Given the description of an element on the screen output the (x, y) to click on. 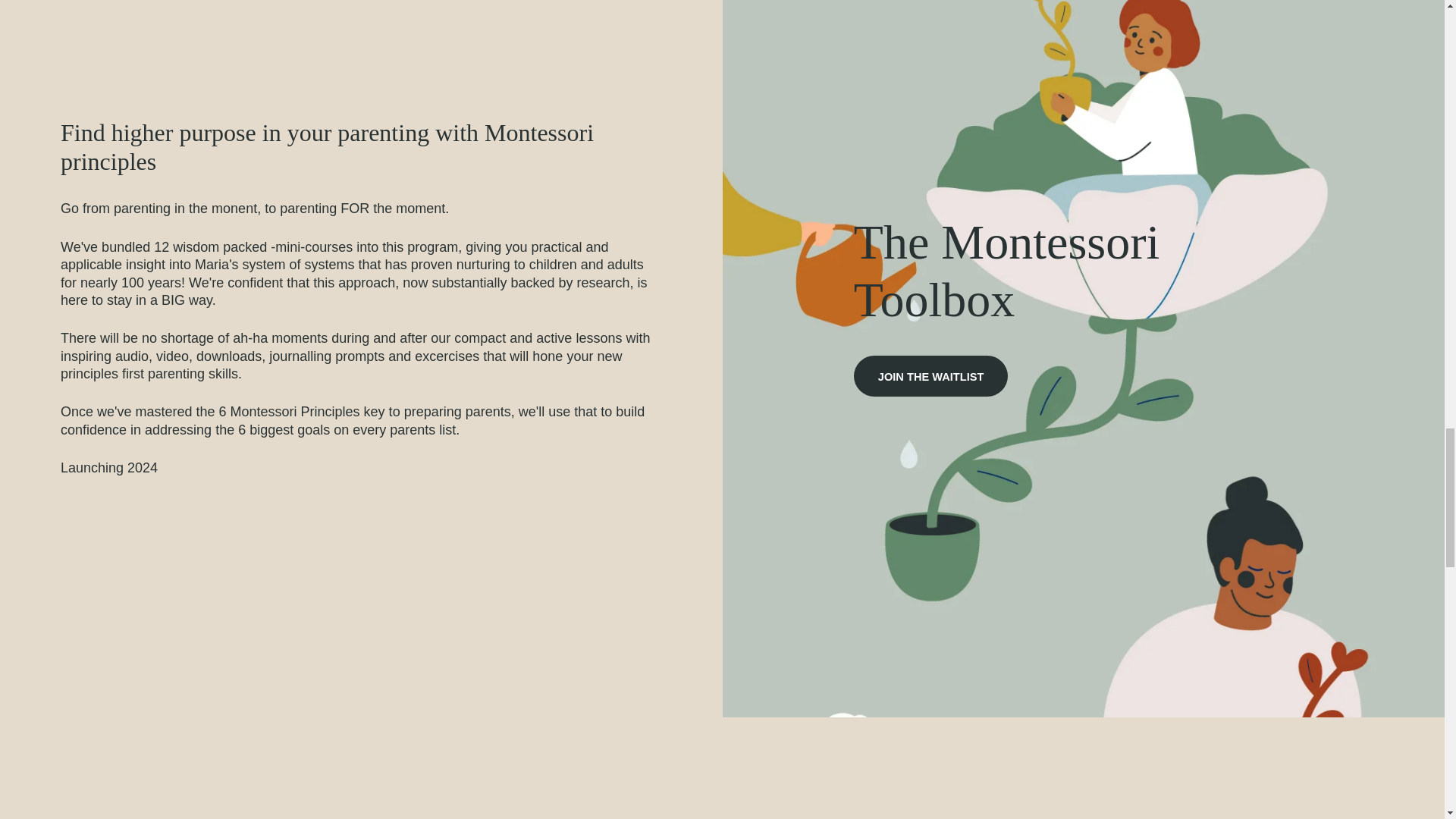
JOIN THE WAITLIST (931, 375)
Join the waitlist (931, 375)
